Given the description of an element on the screen output the (x, y) to click on. 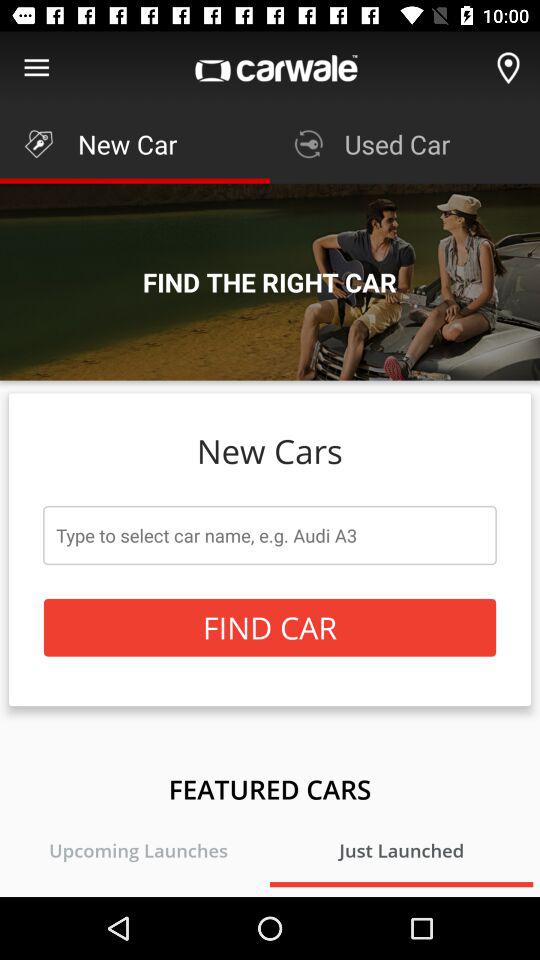
go to settings (36, 68)
